Given the description of an element on the screen output the (x, y) to click on. 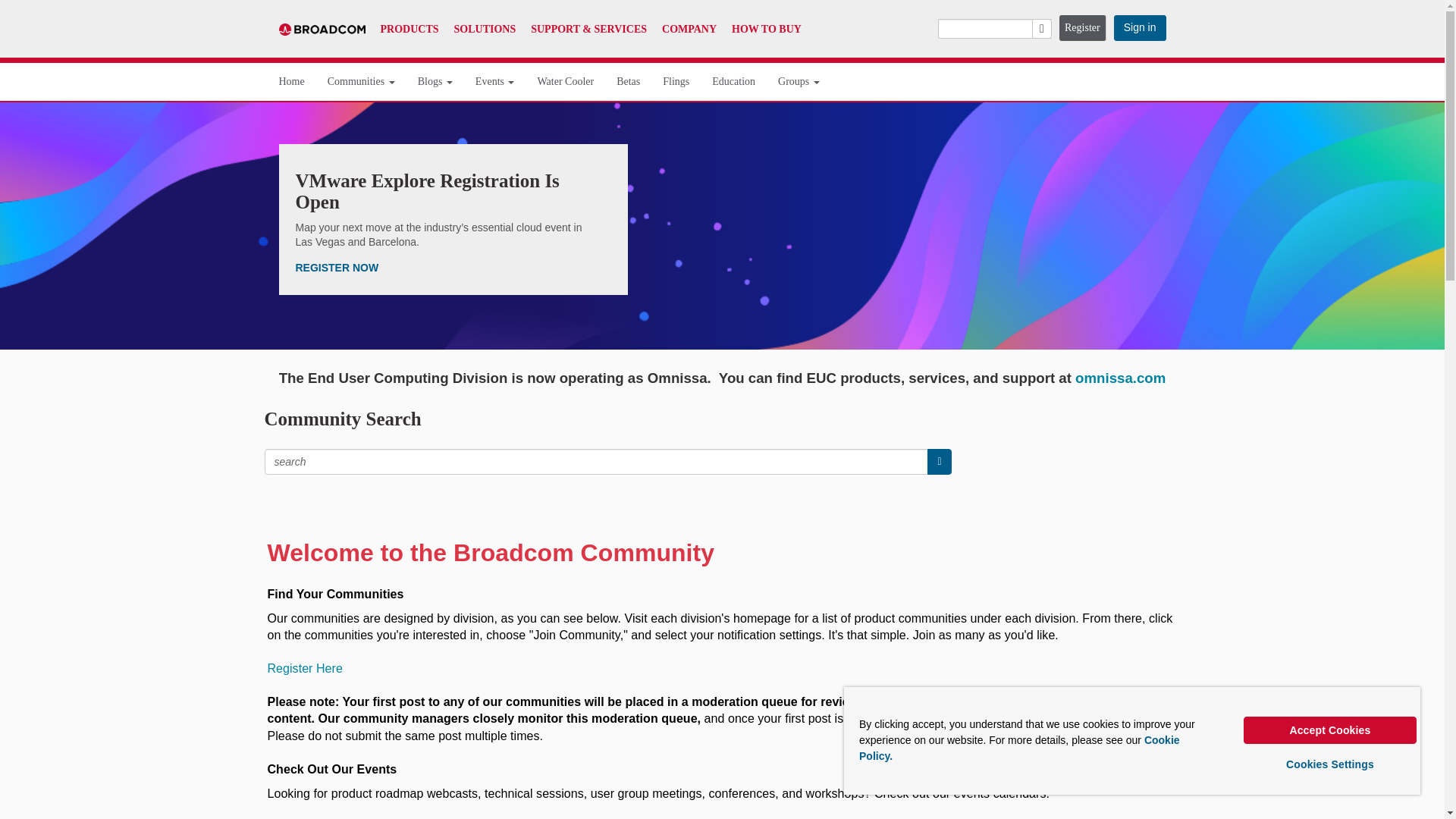
Blogs (434, 81)
Communities (360, 81)
search (938, 461)
Sign in (1139, 27)
Water Cooler (565, 81)
COMPANY (689, 29)
search (994, 28)
SOLUTIONS (485, 29)
PRODUCTS (409, 29)
search term input (595, 461)
Register (1082, 27)
Events (495, 81)
HOW TO BUY (767, 29)
